Given the description of an element on the screen output the (x, y) to click on. 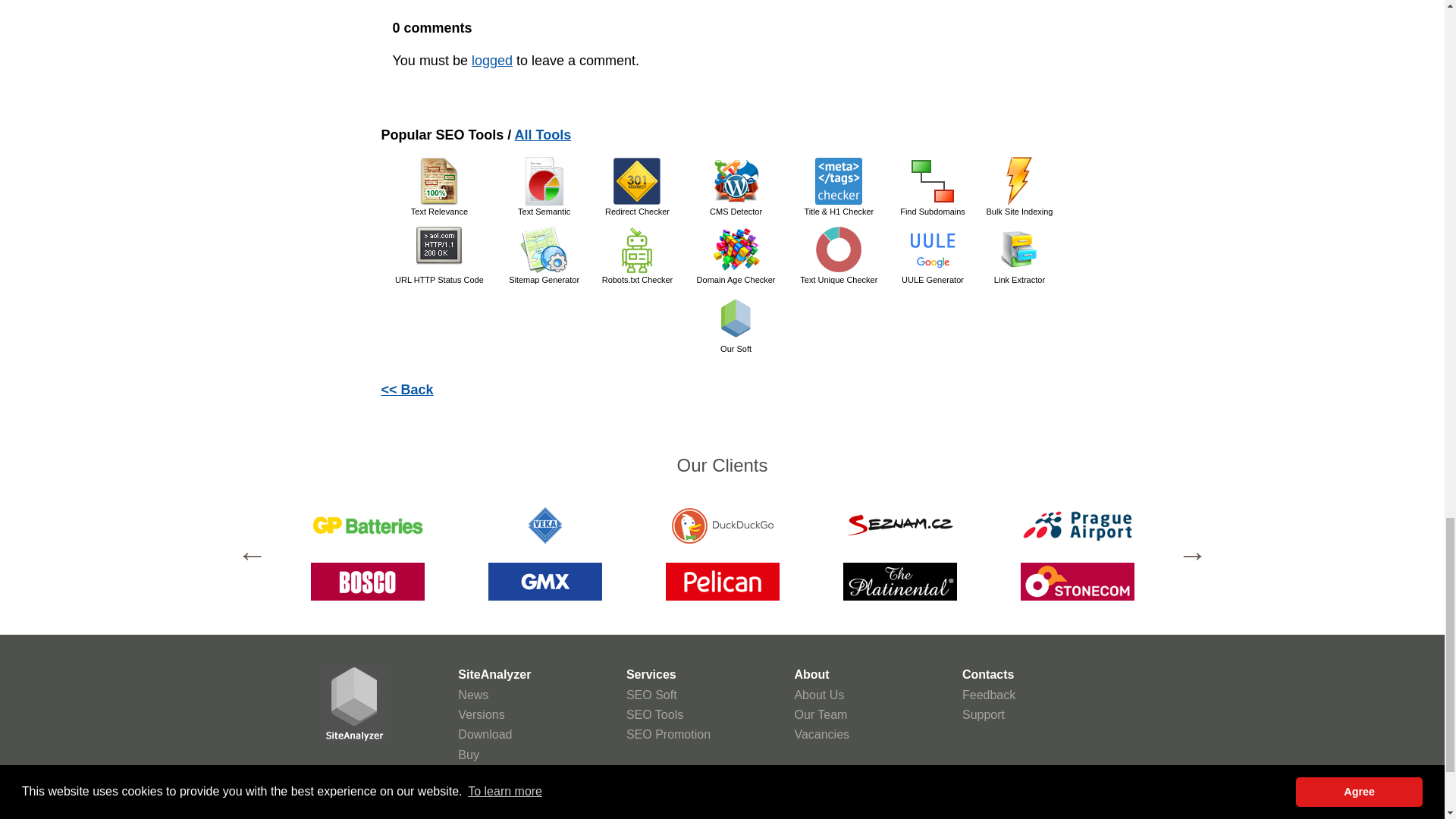
Domain Age Checker (735, 249)
CMS Detector (735, 181)
URL HTTP Status Code (438, 249)
Robots.txt Checker (636, 249)
Find Subdomains (932, 181)
Text Relevance Analysis (438, 181)
Text Semantic Analysis (544, 181)
Redirect Checker (636, 181)
Sitemap Generator (544, 249)
Bulk Site Indexing on Google (1018, 181)
Text Unique Checker (838, 249)
